Given the description of an element on the screen output the (x, y) to click on. 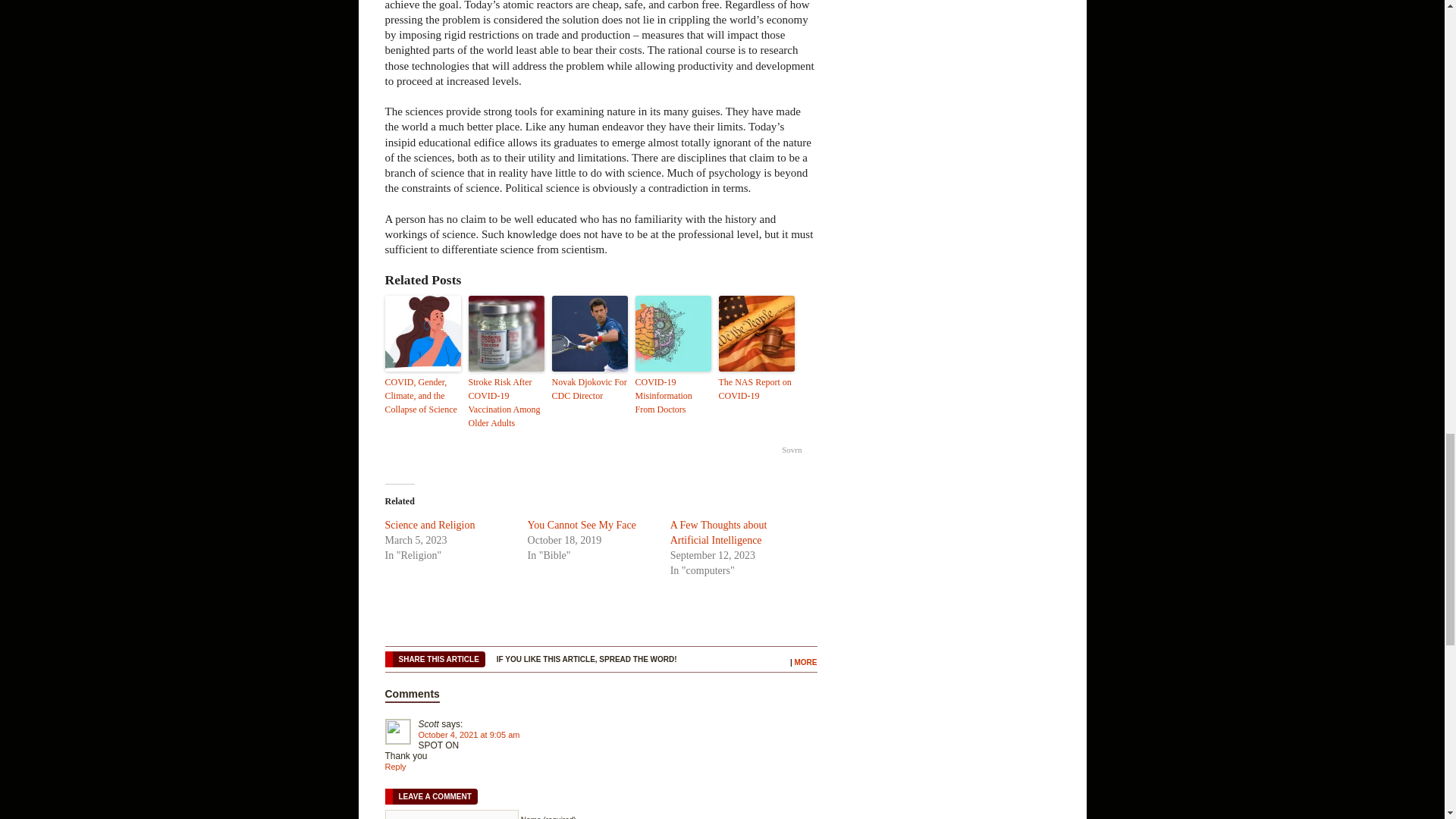
October 4, 2021 at 9:05 am (469, 734)
Science and Religion (430, 524)
Sovrn (791, 449)
Novak Djokovic For CDC Director (589, 388)
You Cannot See My Face (581, 524)
Reply (395, 766)
COVID-19 Misinformation From Doctors (672, 395)
Science and Religion (430, 524)
MORE (805, 662)
A Few Thoughts about Artificial Intelligence (718, 532)
The NAS Report on COVID-19 (756, 388)
Stroke Risk After COVID-19 Vaccination Among Older Adults (506, 402)
COVID, Gender, Climate, and the Collapse of Science (423, 395)
A Few Thoughts about Artificial Intelligence (718, 532)
You Cannot See My Face (581, 524)
